Given the description of an element on the screen output the (x, y) to click on. 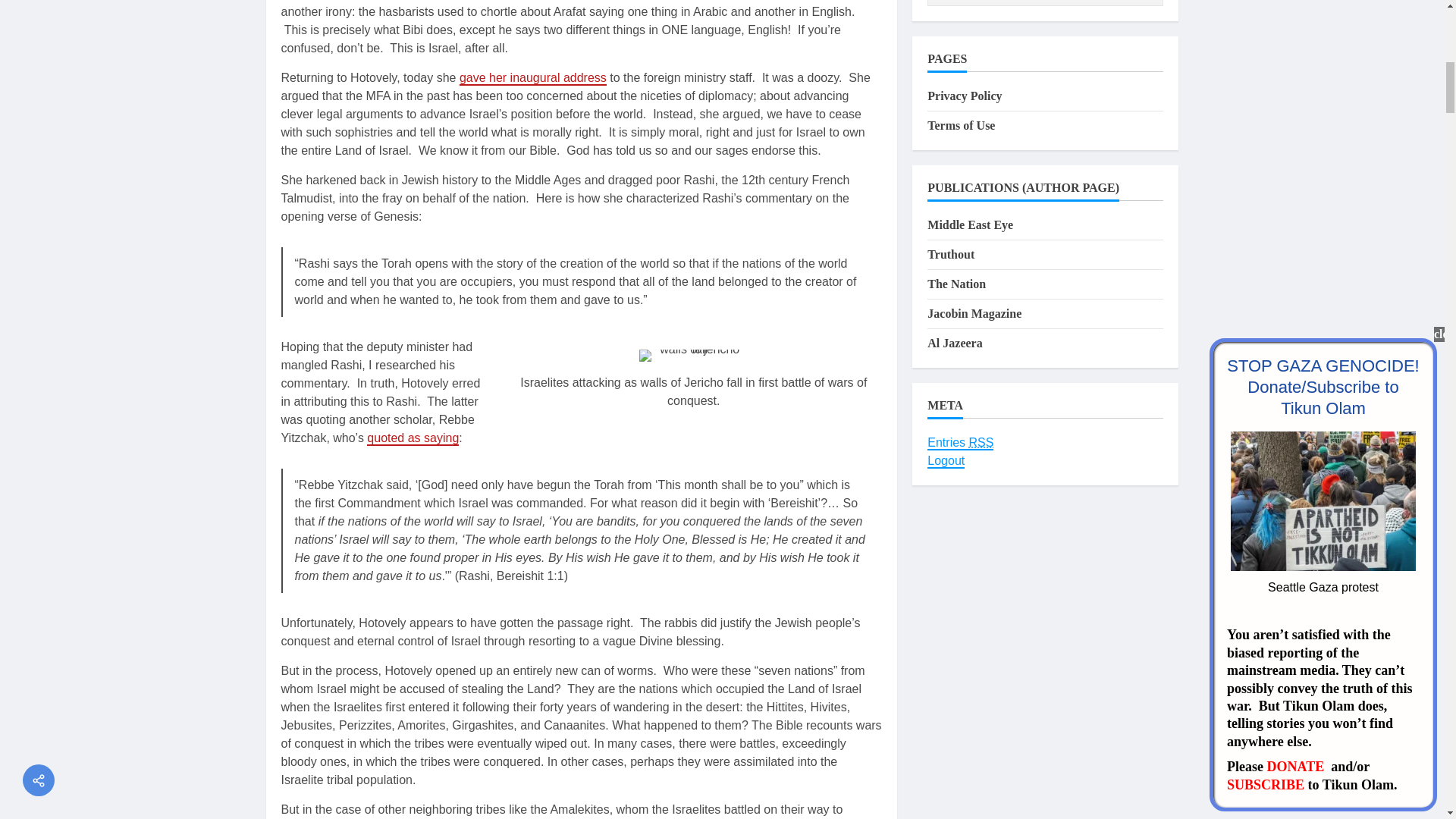
gave her inaugural address (533, 78)
Really Simple Syndication (981, 442)
quoted as saying (412, 438)
